Given the description of an element on the screen output the (x, y) to click on. 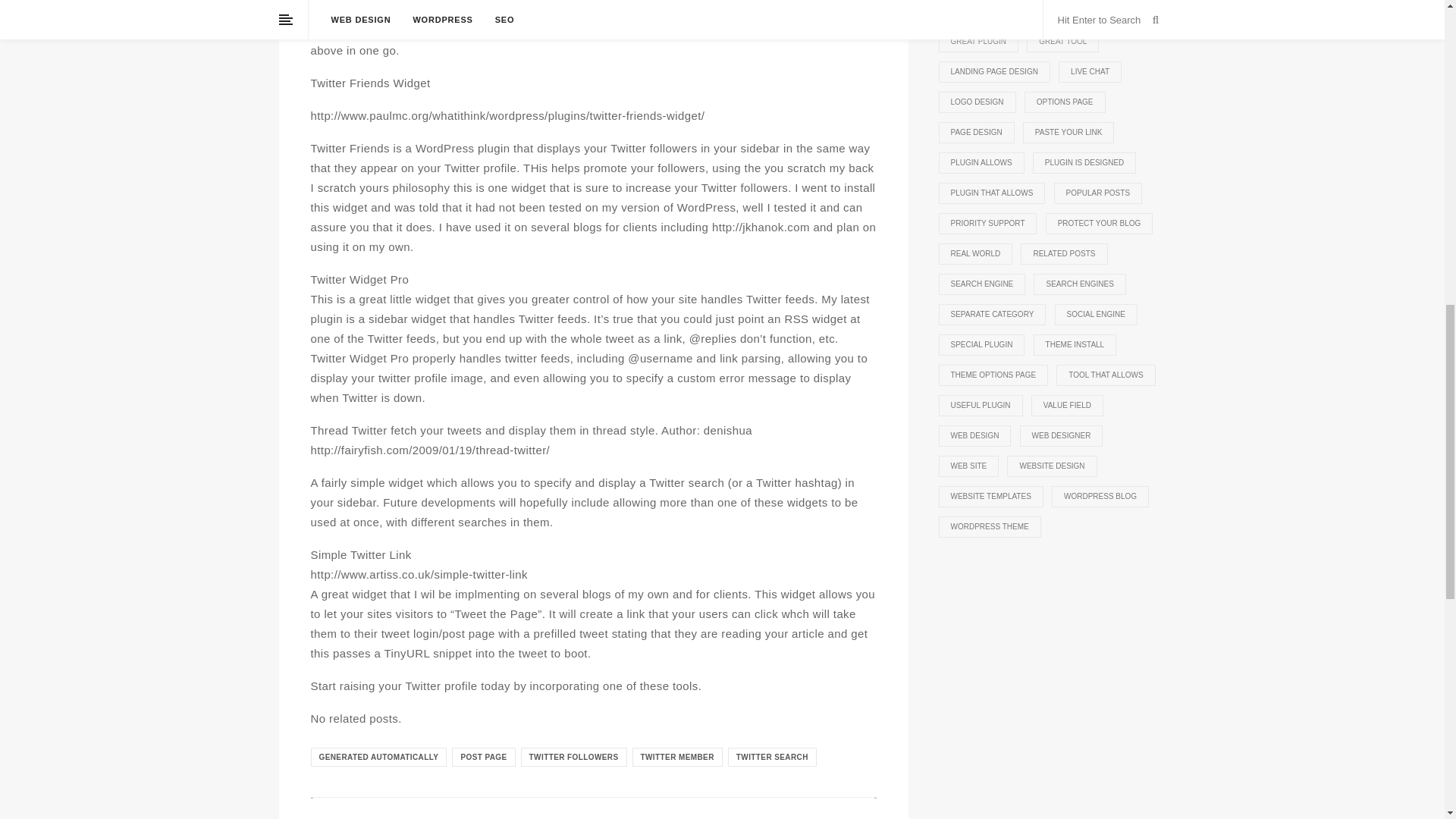
Share: (807, 816)
TWITTER MEMBER (676, 756)
POST PAGE (483, 756)
GENERATED AUTOMATICALLY (378, 756)
TWITTER FOLLOWERS (574, 756)
TWITTER SEARCH (772, 756)
